Given the description of an element on the screen output the (x, y) to click on. 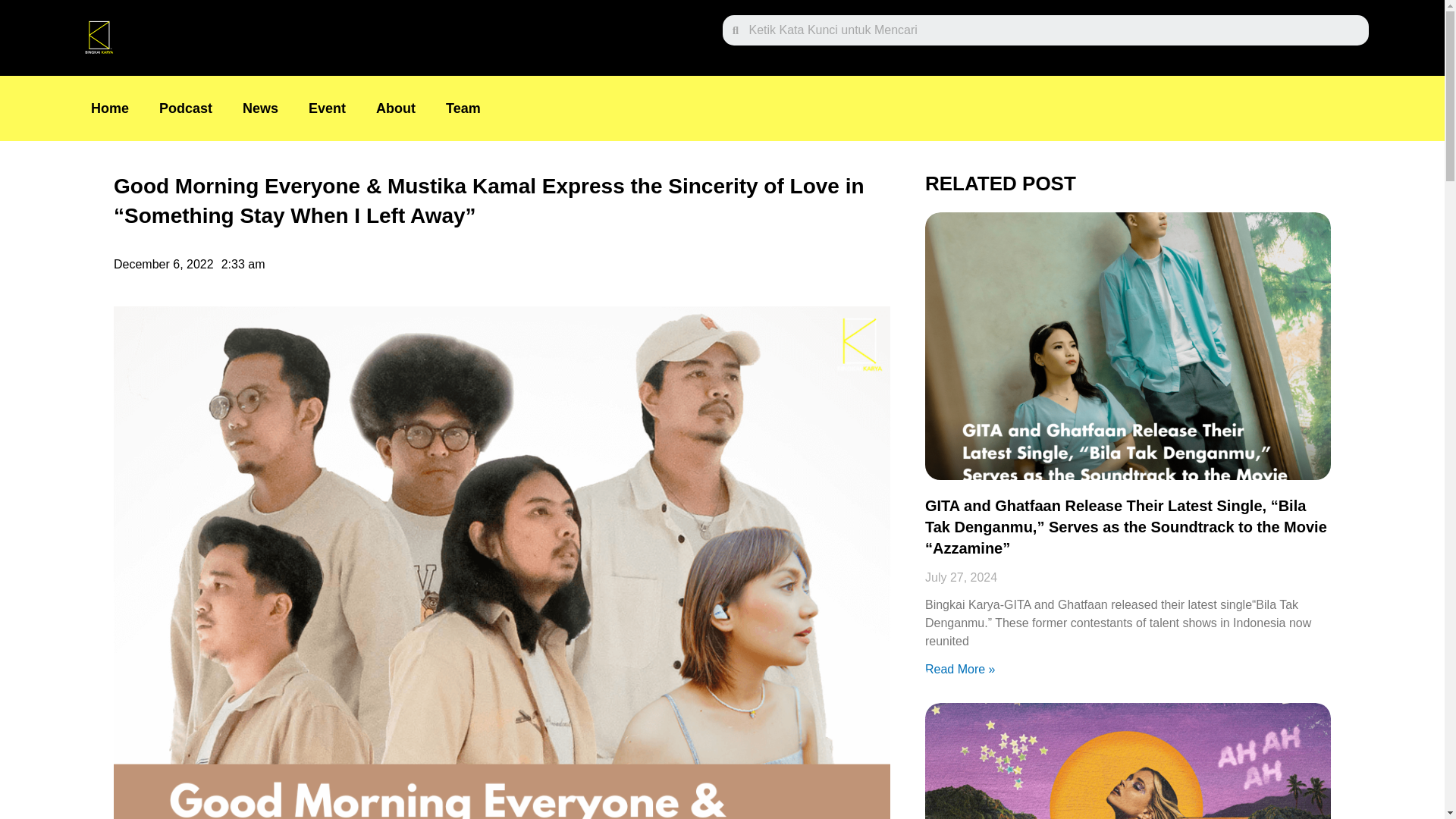
Home (109, 108)
Bingkai Karya Logo (97, 37)
Search (1053, 30)
Podcast (185, 108)
Team (463, 108)
News (260, 108)
Event (327, 108)
About (395, 108)
